Given the description of an element on the screen output the (x, y) to click on. 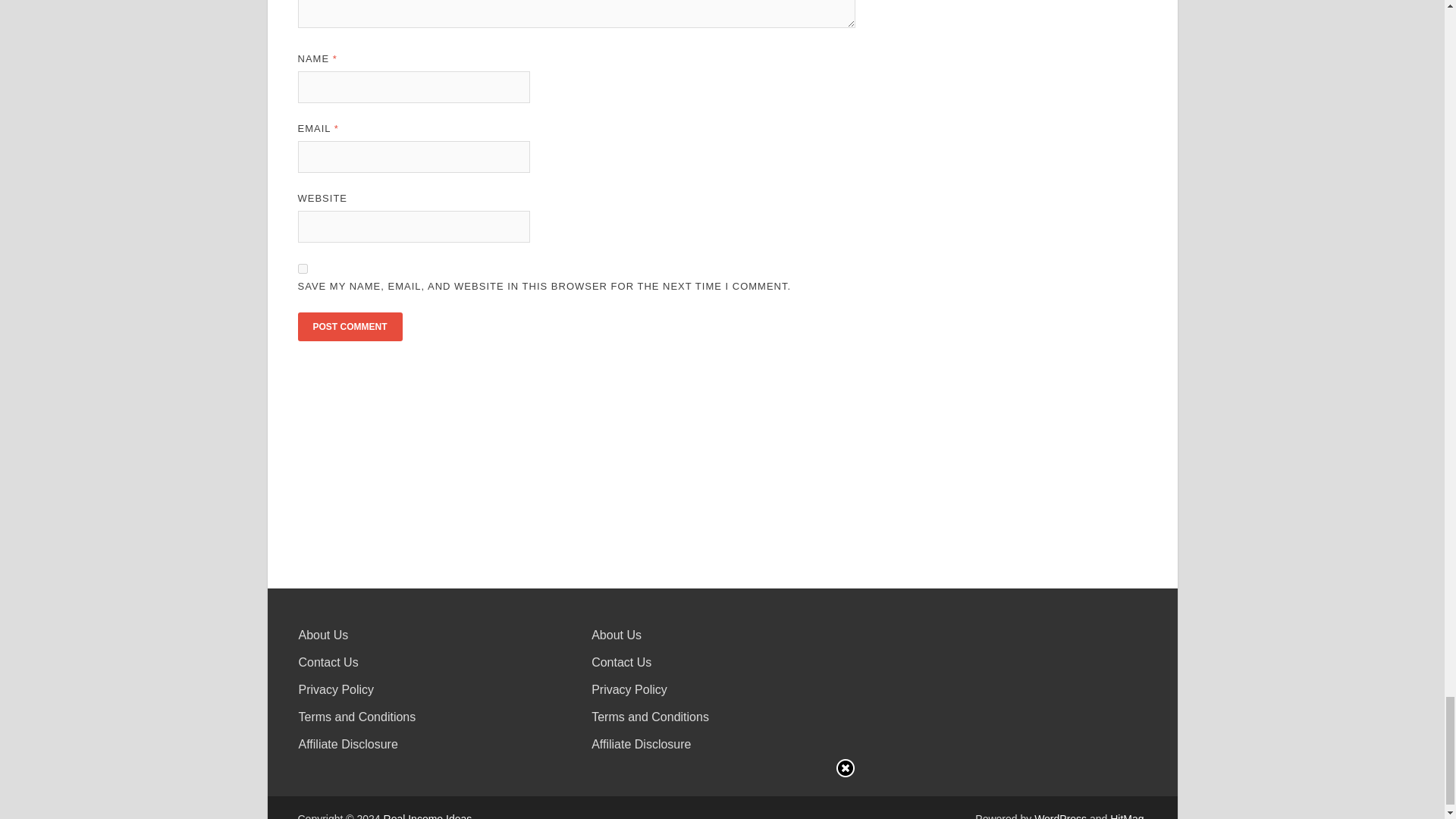
Post Comment (349, 326)
yes (302, 268)
Post Comment (349, 326)
